Given the description of an element on the screen output the (x, y) to click on. 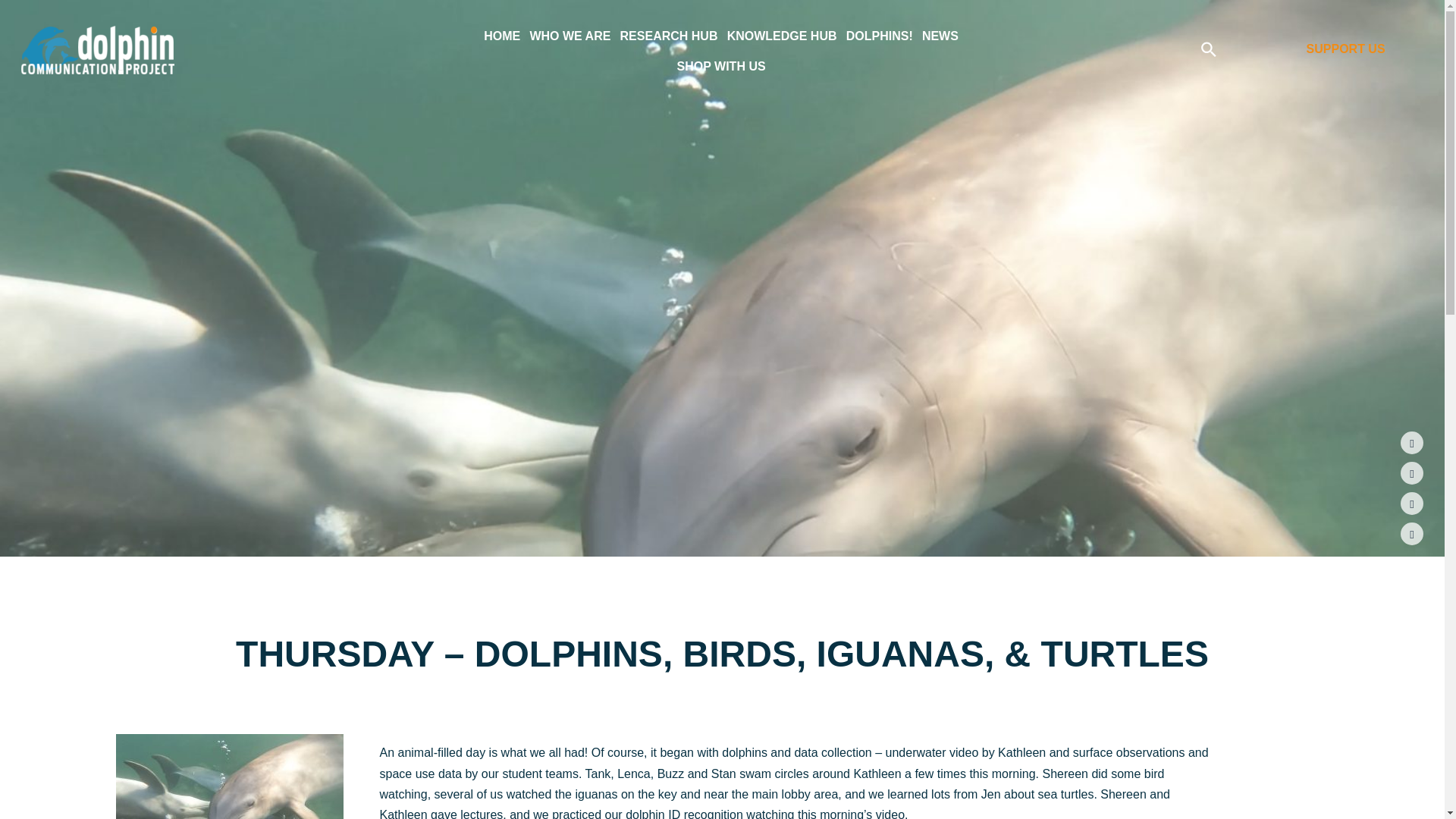
WHO WE ARE (569, 36)
DOLPHINS! (878, 36)
RESEARCH HUB (668, 36)
KNOWLEDGE HUB (781, 36)
HOME (501, 36)
NEWS (939, 36)
